Given the description of an element on the screen output the (x, y) to click on. 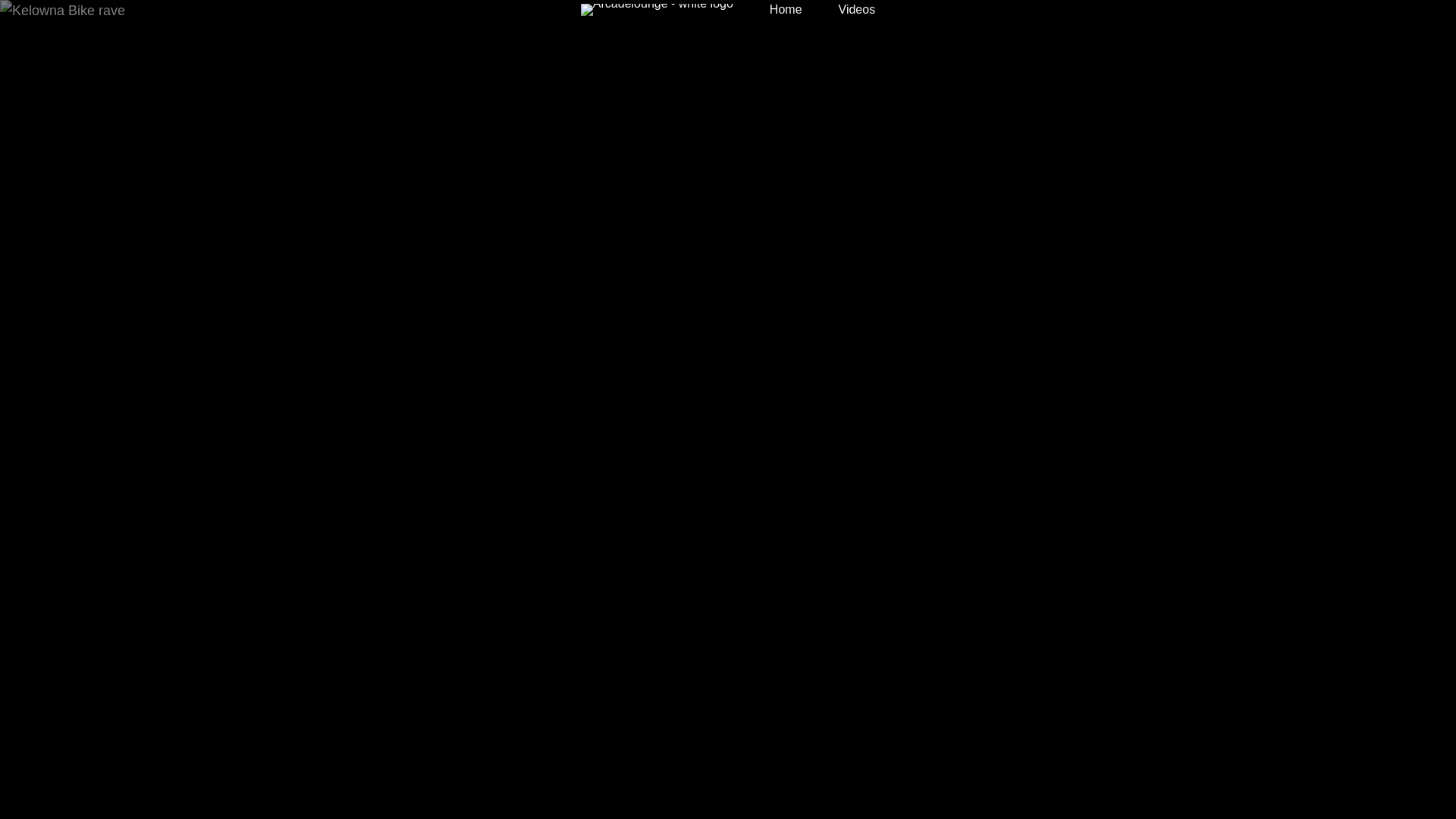
Home Element type: text (785, 9)
Videos Element type: text (856, 9)
